Given the description of an element on the screen output the (x, y) to click on. 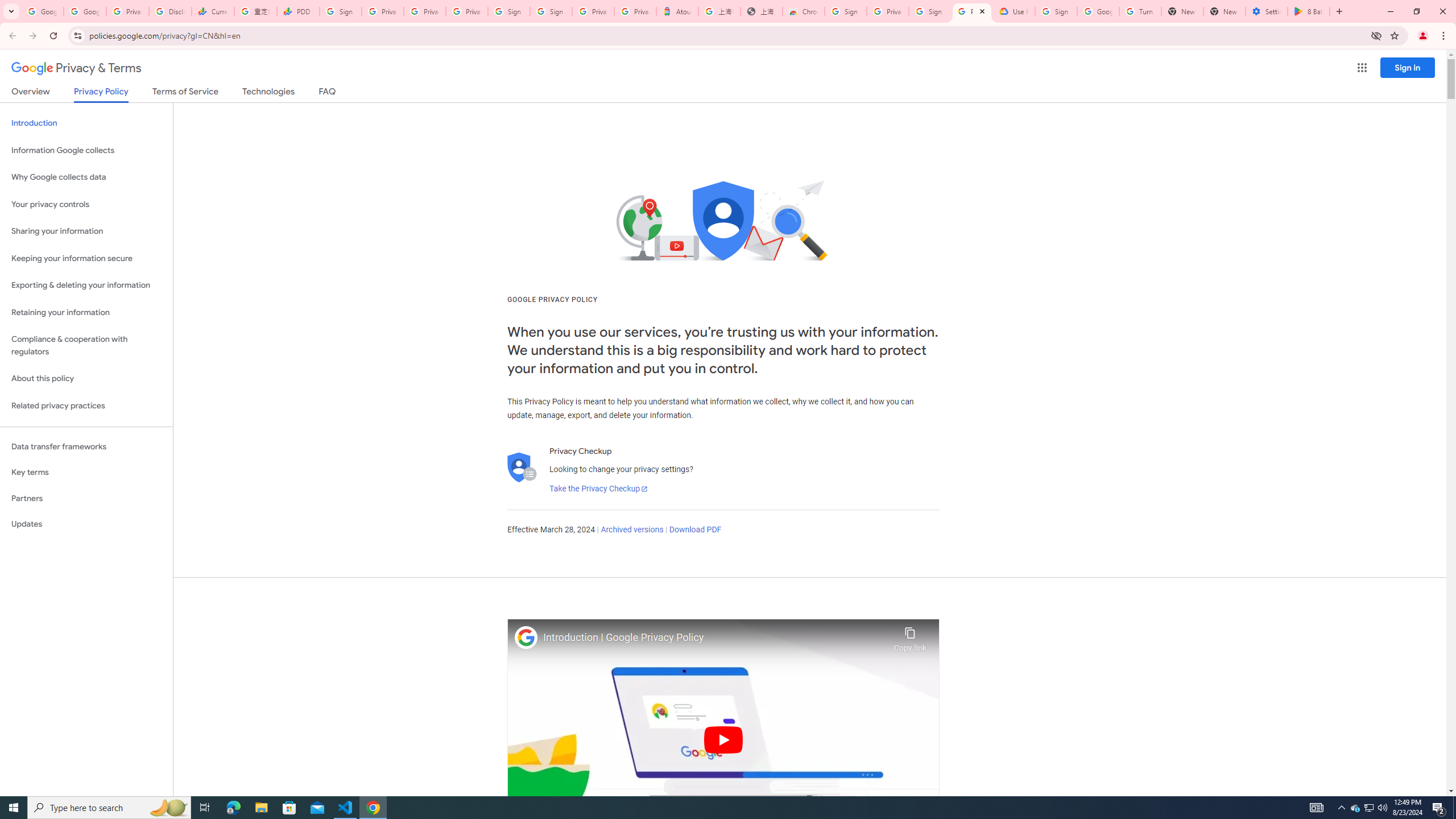
Your privacy controls (86, 204)
Keeping your information secure (86, 258)
Why Google collects data (86, 176)
About this policy (86, 379)
Take the Privacy Checkup (597, 488)
Information Google collects (86, 150)
Partners (86, 497)
Sign in - Google Accounts (845, 11)
